Given the description of an element on the screen output the (x, y) to click on. 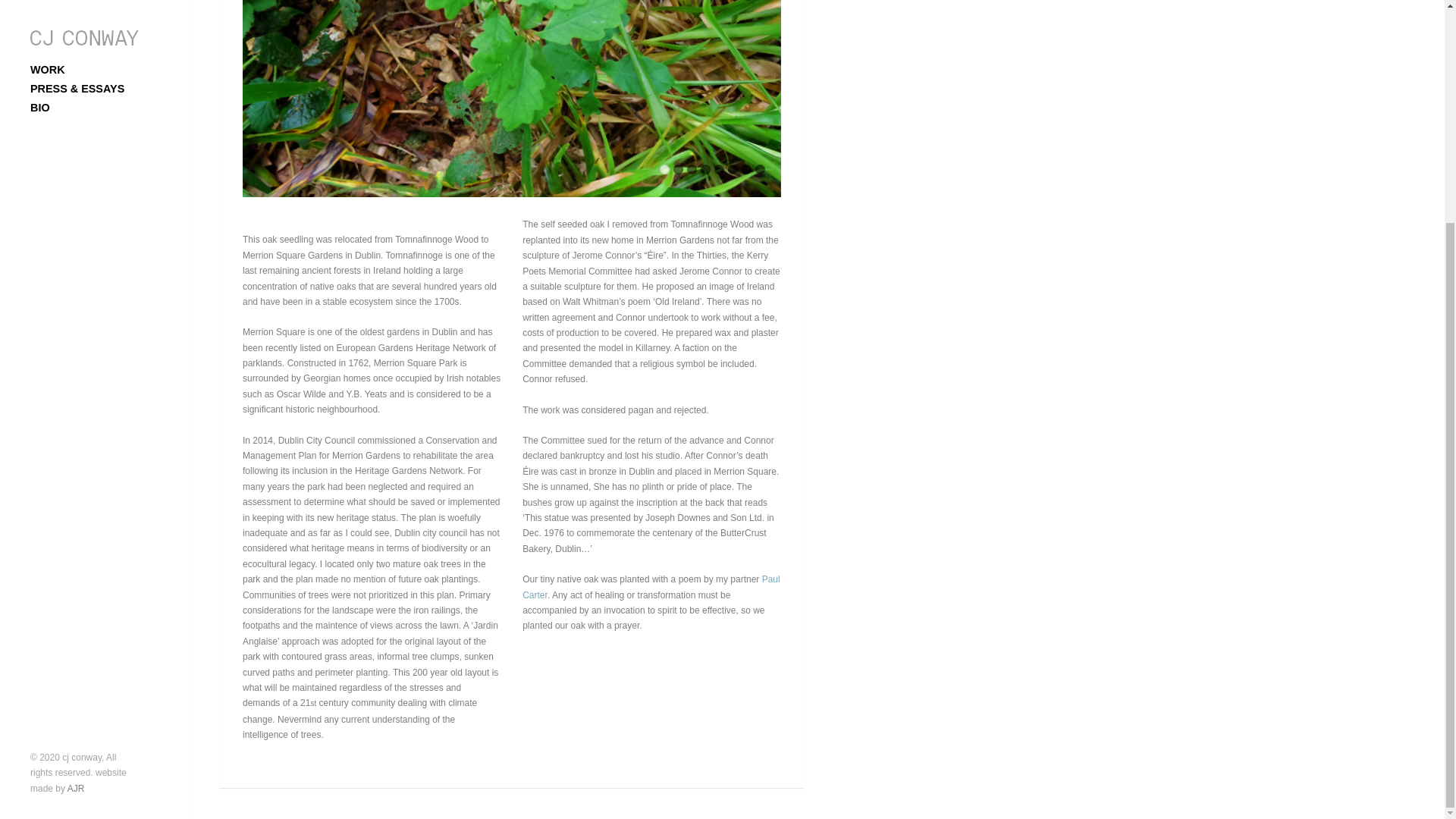
2 (677, 169)
3 (692, 169)
7 (746, 169)
8 (760, 169)
Paul Carter (651, 586)
1 (664, 169)
6 (733, 169)
4 (705, 169)
5 (718, 169)
AJR (75, 491)
